Given the description of an element on the screen output the (x, y) to click on. 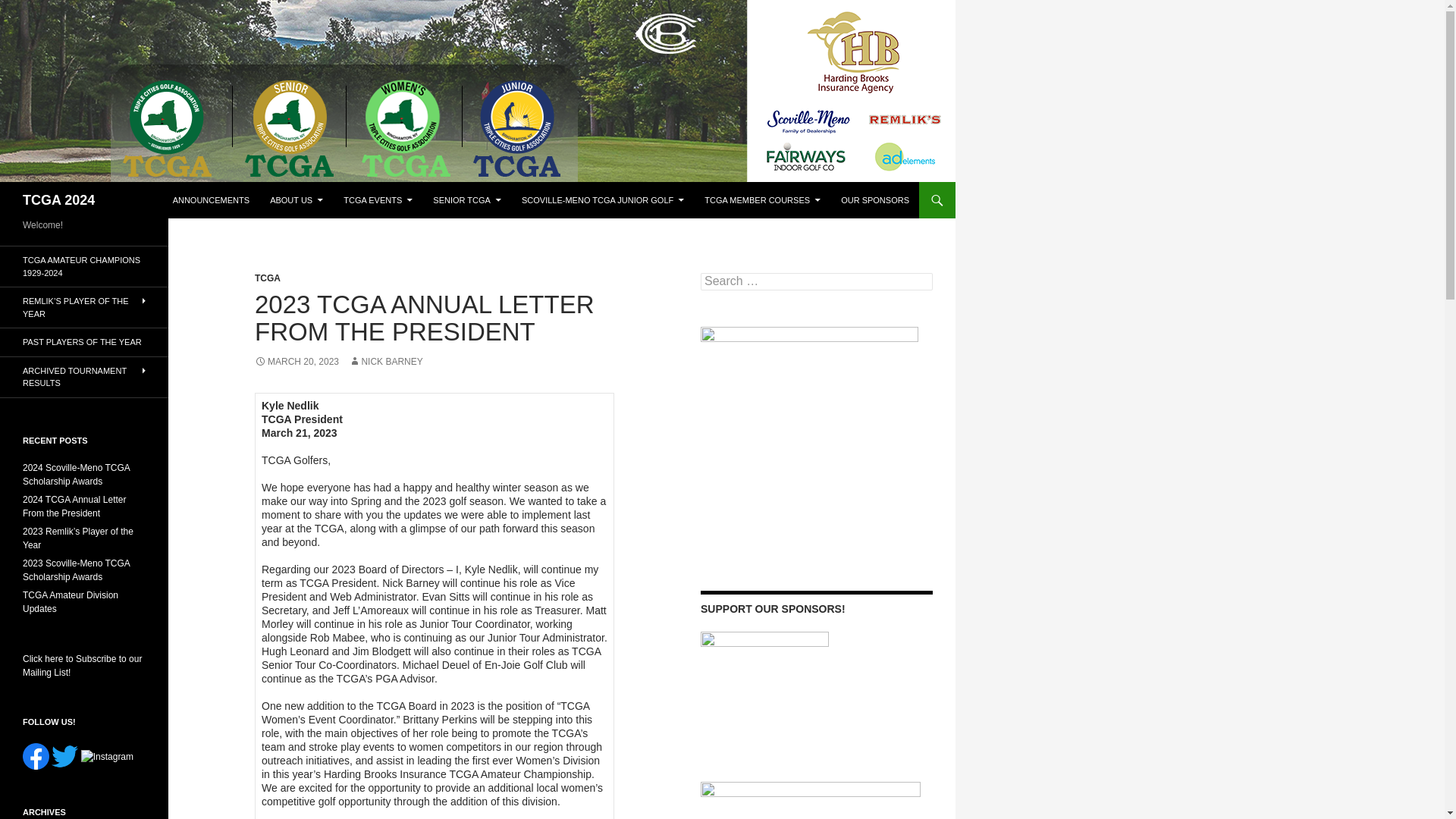
TCGA 2024 (58, 199)
ABOUT US (295, 199)
SENIOR TCGA (467, 199)
Twitter (64, 755)
SCOVILLE-MENO TCGA JUNIOR GOLF (602, 199)
TCGA MEMBER COURSES (762, 199)
ANNOUNCEMENTS (211, 199)
Facebook (36, 755)
TCGA EVENTS (378, 199)
Instagram (107, 756)
